Given the description of an element on the screen output the (x, y) to click on. 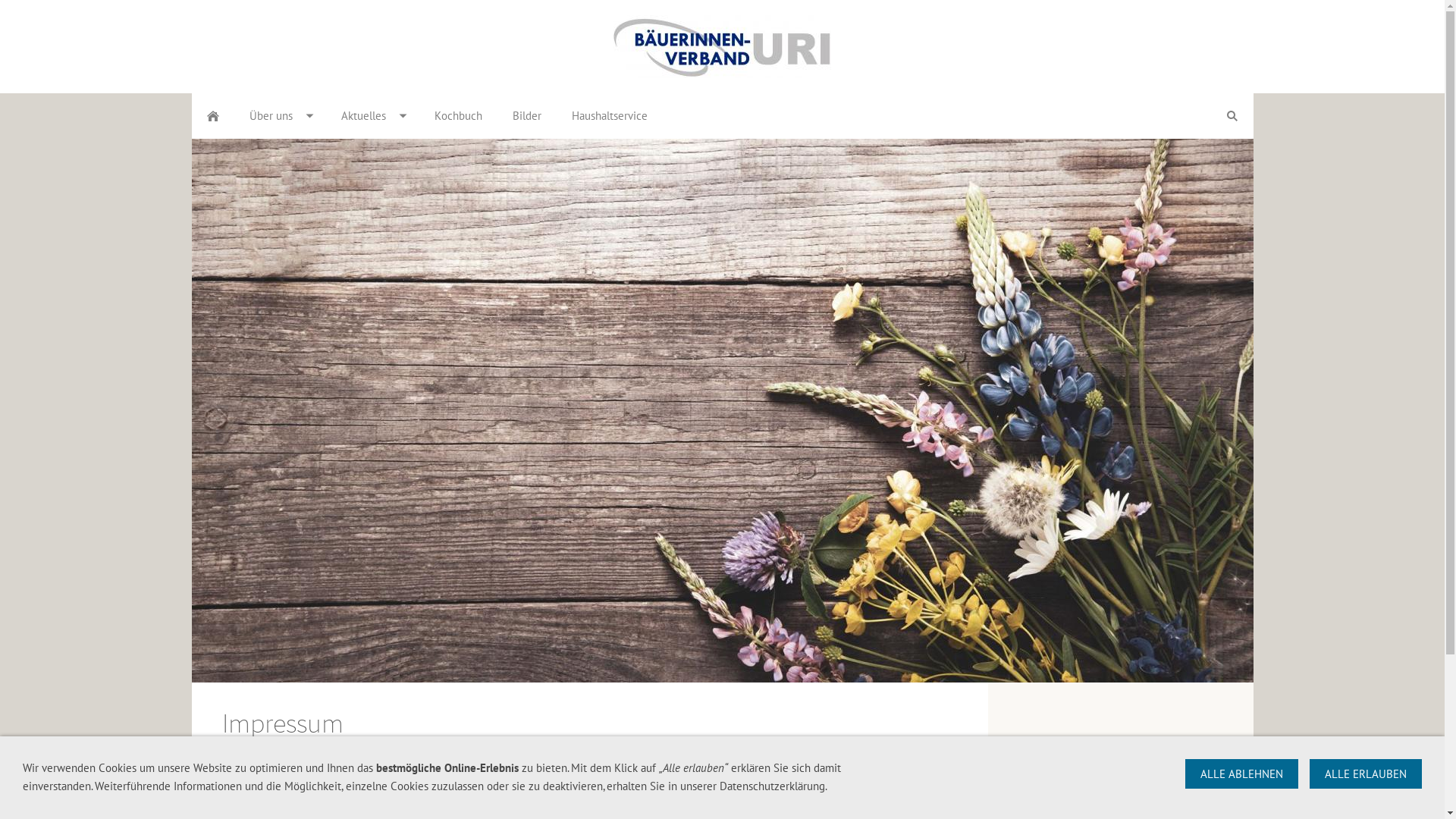
Aktuelles Element type: text (372, 115)
Kochbuch Element type: text (457, 115)
ALLE ABLEHNEN Element type: text (1241, 773)
ALLE ERLAUBEN Element type: text (1365, 773)
edith.gisler@baeuerinnen-uri.ch Element type: text (326, 797)
Bilder Element type: text (526, 115)
Haushaltservice Element type: text (609, 115)
